Given the description of an element on the screen output the (x, y) to click on. 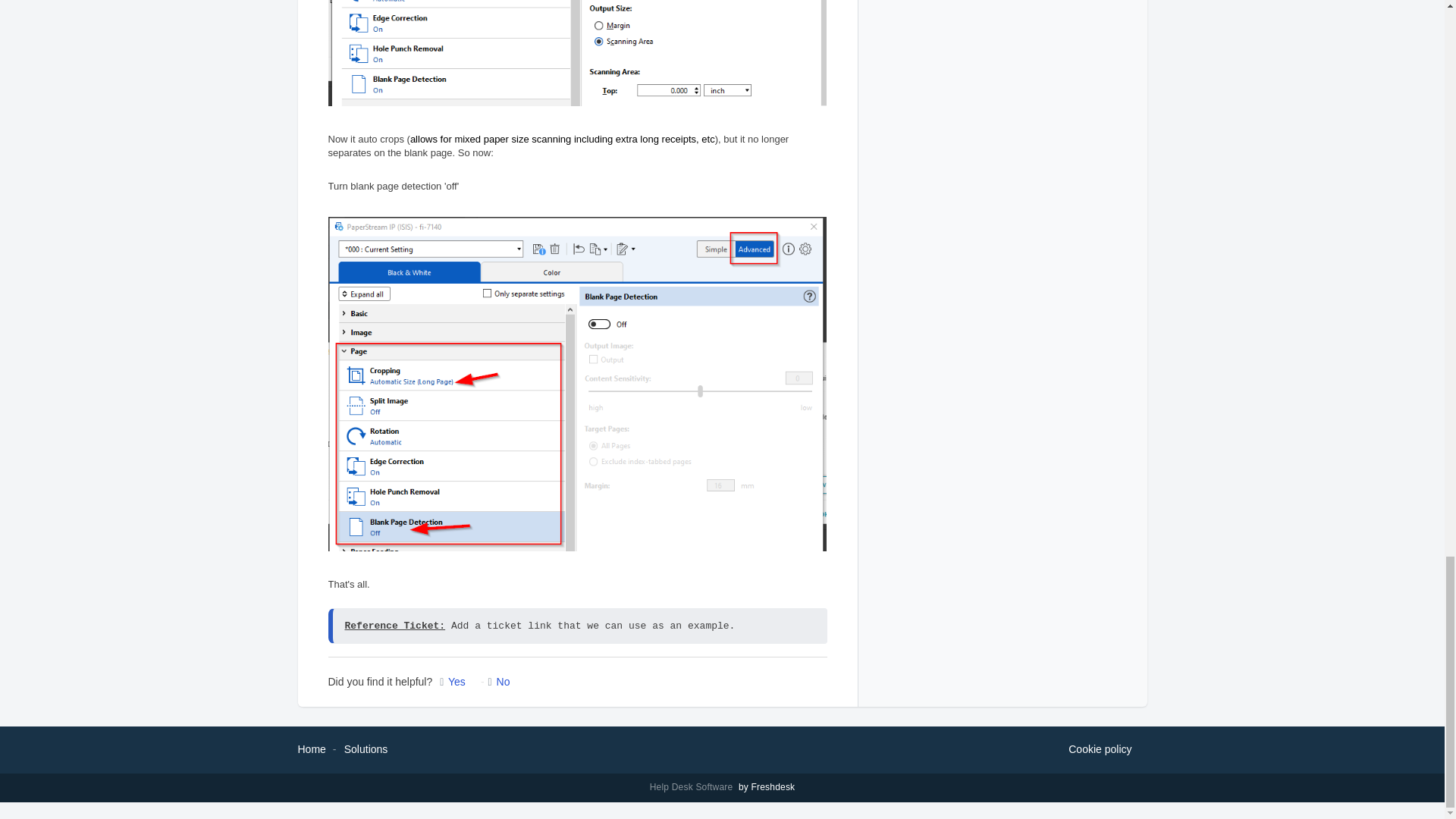
Home (310, 748)
Cookie policy (1099, 750)
Help Desk Software (693, 787)
Solutions (365, 748)
Why we love Cookies (1099, 750)
